Given the description of an element on the screen output the (x, y) to click on. 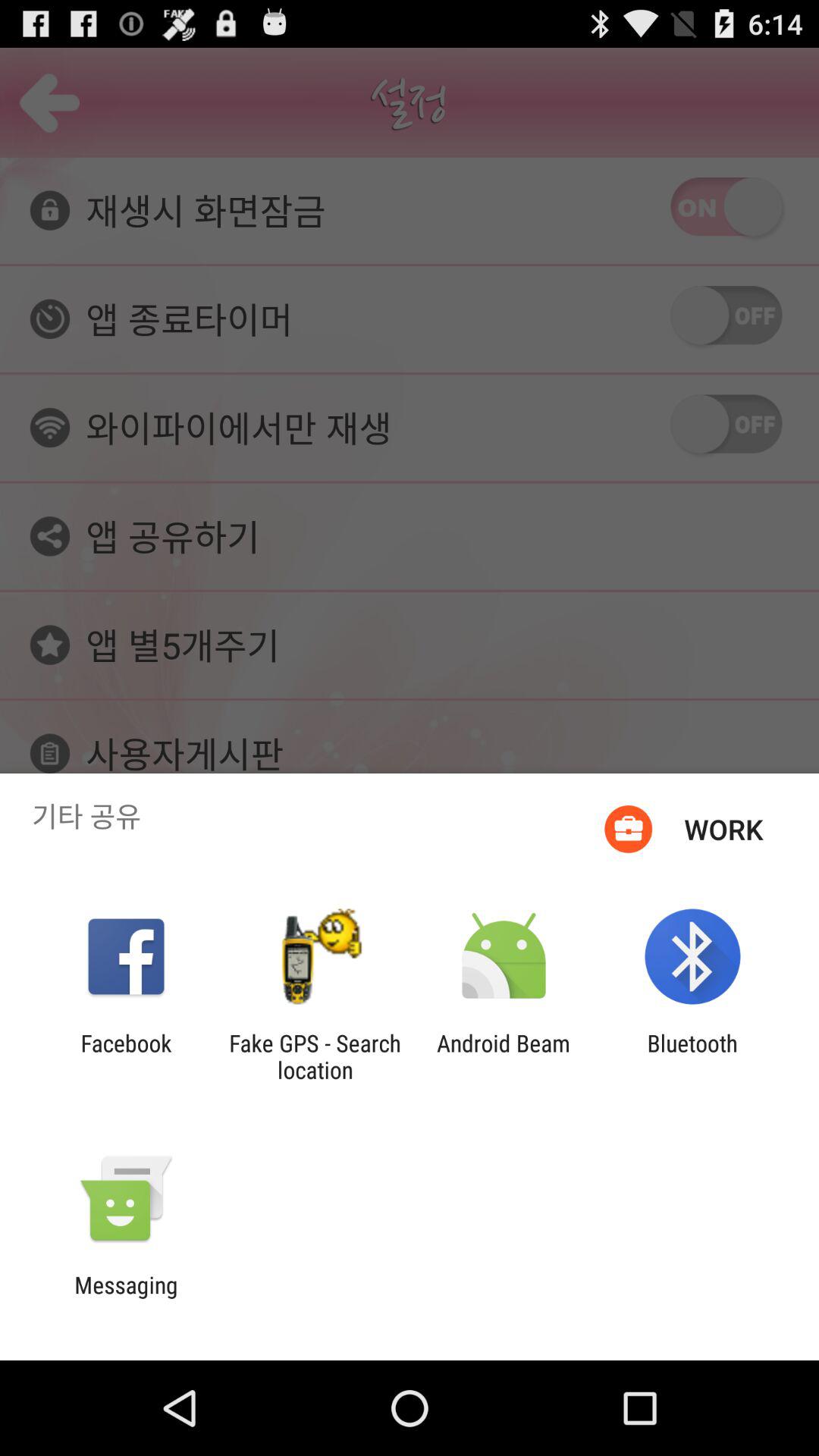
swipe until messaging (126, 1298)
